Given the description of an element on the screen output the (x, y) to click on. 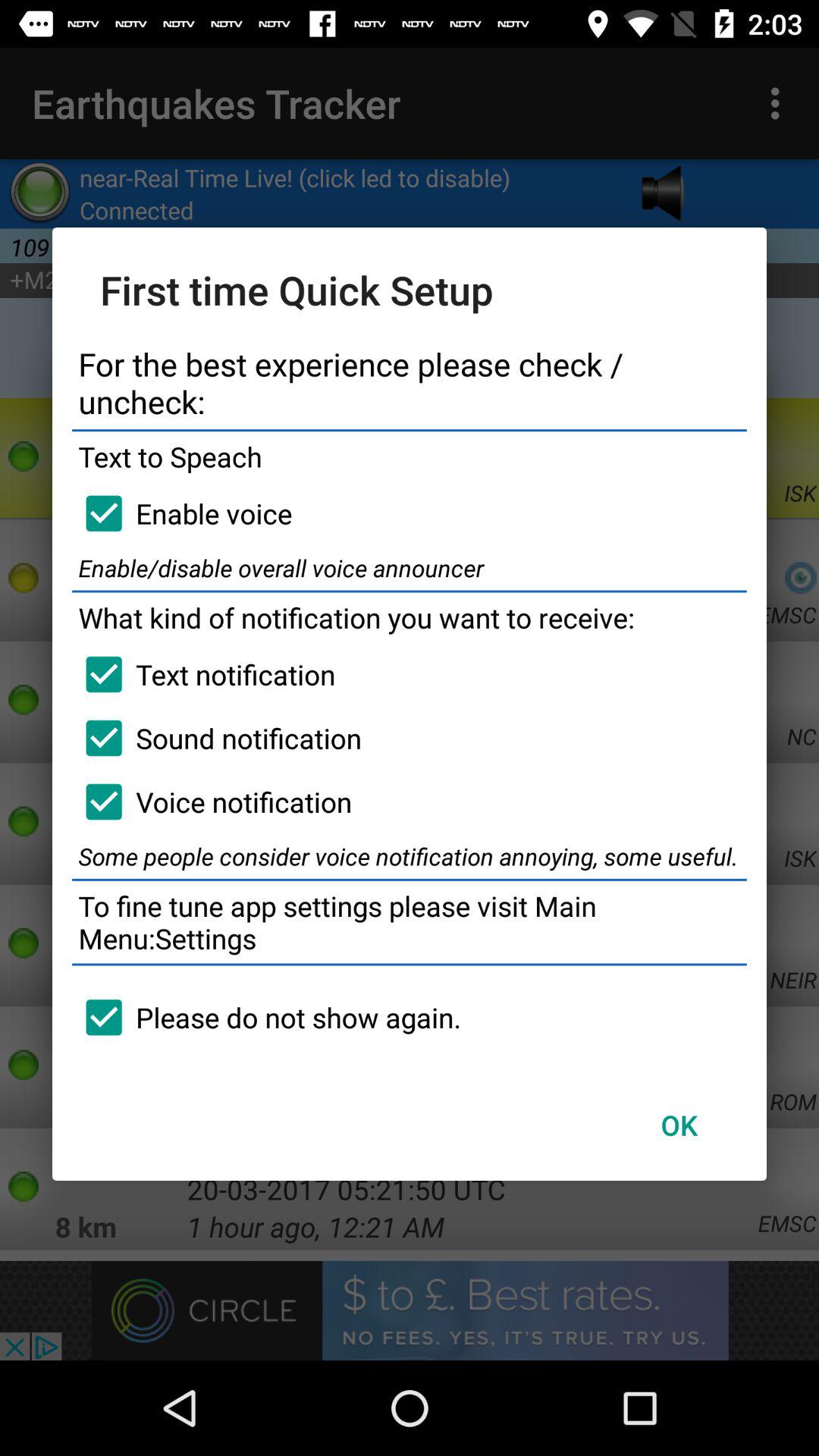
choose icon below the what kind of icon (203, 674)
